Given the description of an element on the screen output the (x, y) to click on. 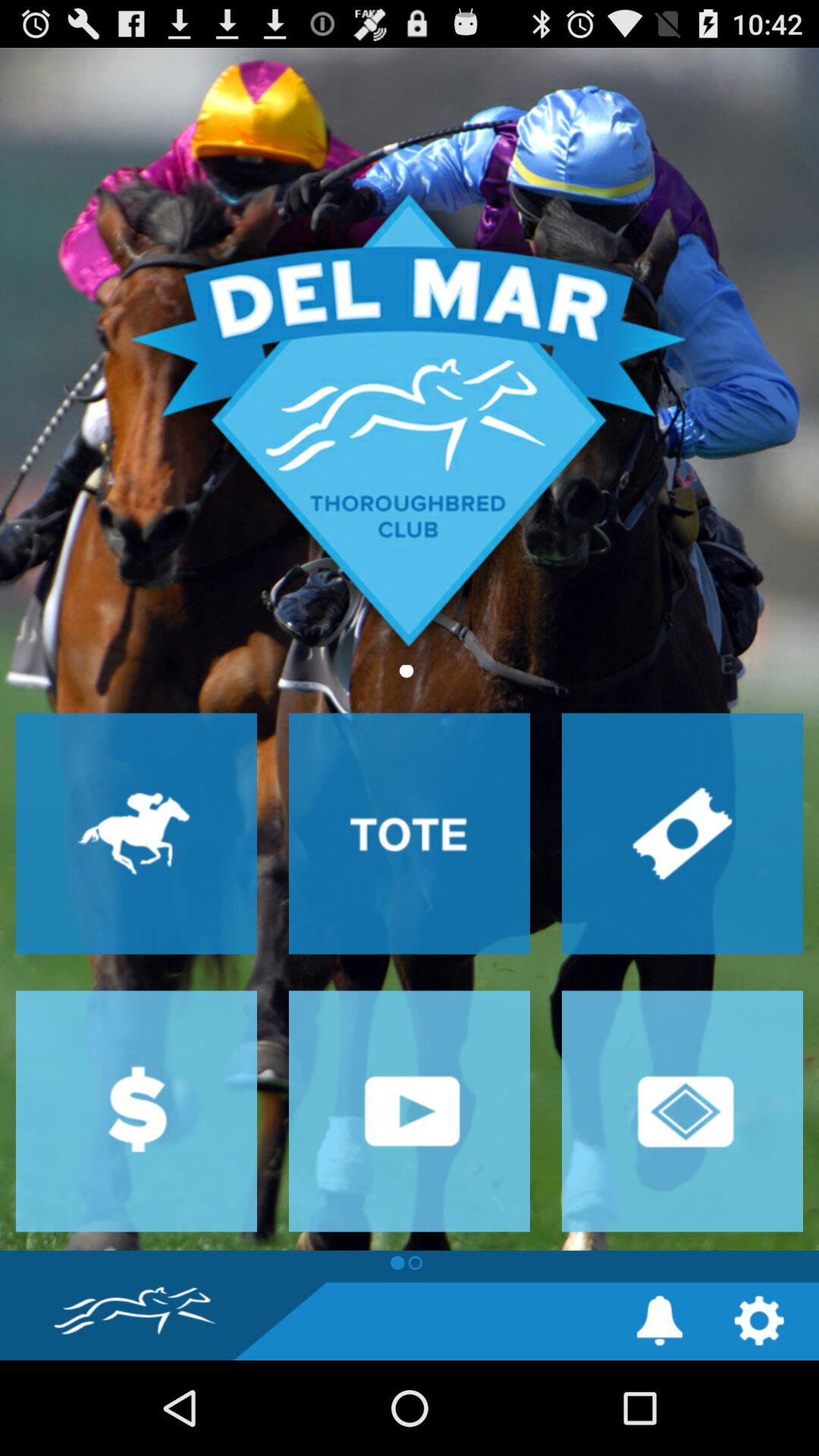
start the app (409, 1111)
